Given the description of an element on the screen output the (x, y) to click on. 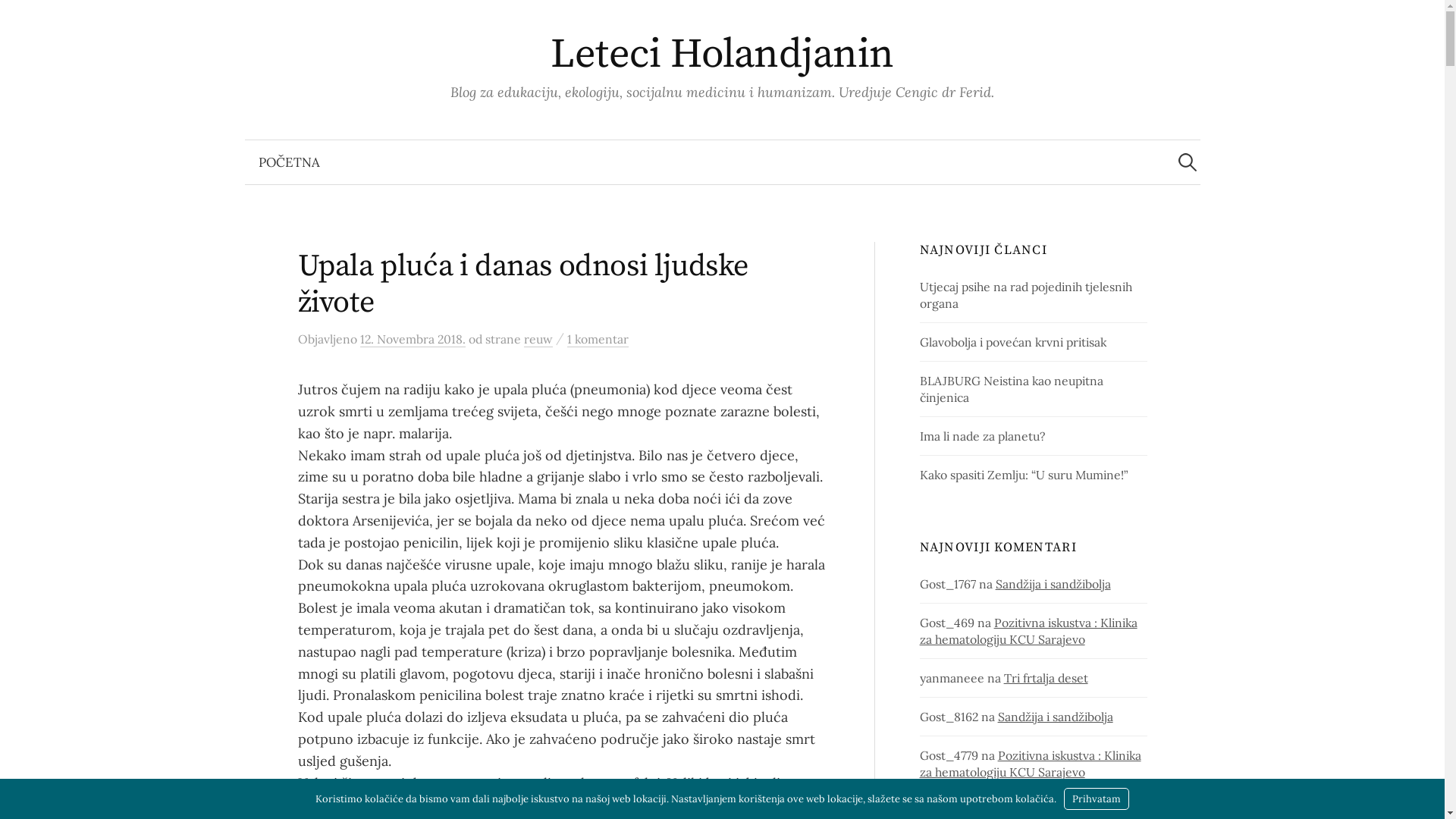
12. Novembra 2018. Element type: text (411, 339)
reuw Element type: text (537, 339)
Pretraga Element type: text (18, 18)
Ima li nade za planetu? Element type: text (981, 435)
Pozitivna iskustva : Klinika za hematologiju KCU Sarajevo Element type: text (1028, 630)
Leteci Holandjanin Element type: text (721, 54)
Prihvatam Element type: text (1096, 798)
Tri frtalja deset Element type: text (1046, 677)
Pozitivna iskustva : Klinika za hematologiju KCU Sarajevo Element type: text (1030, 763)
Utjecaj psihe na rad pojedinih tjelesnih organa Element type: text (1025, 294)
